Given the description of an element on the screen output the (x, y) to click on. 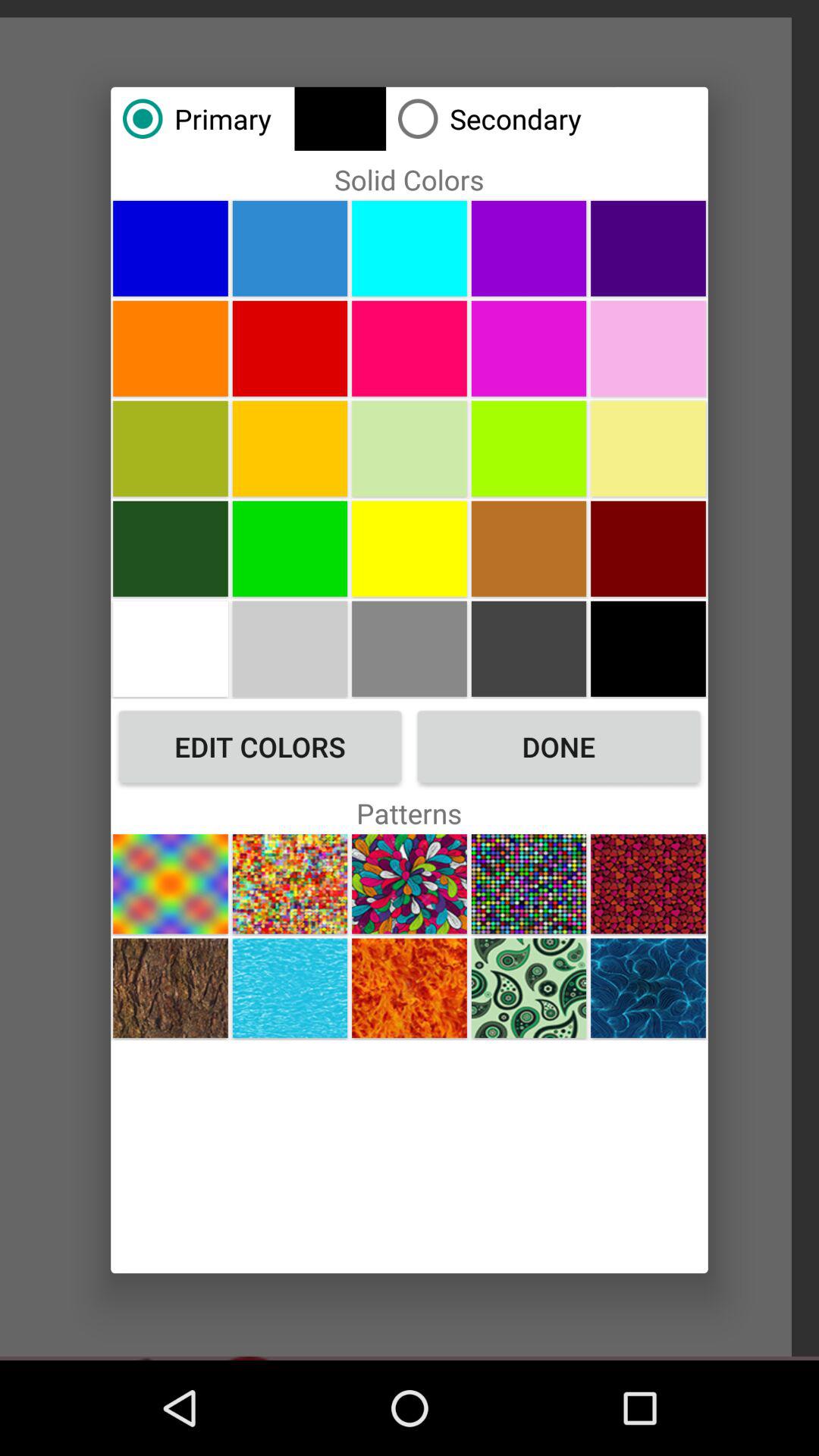
choose a solid color (528, 548)
